Given the description of an element on the screen output the (x, y) to click on. 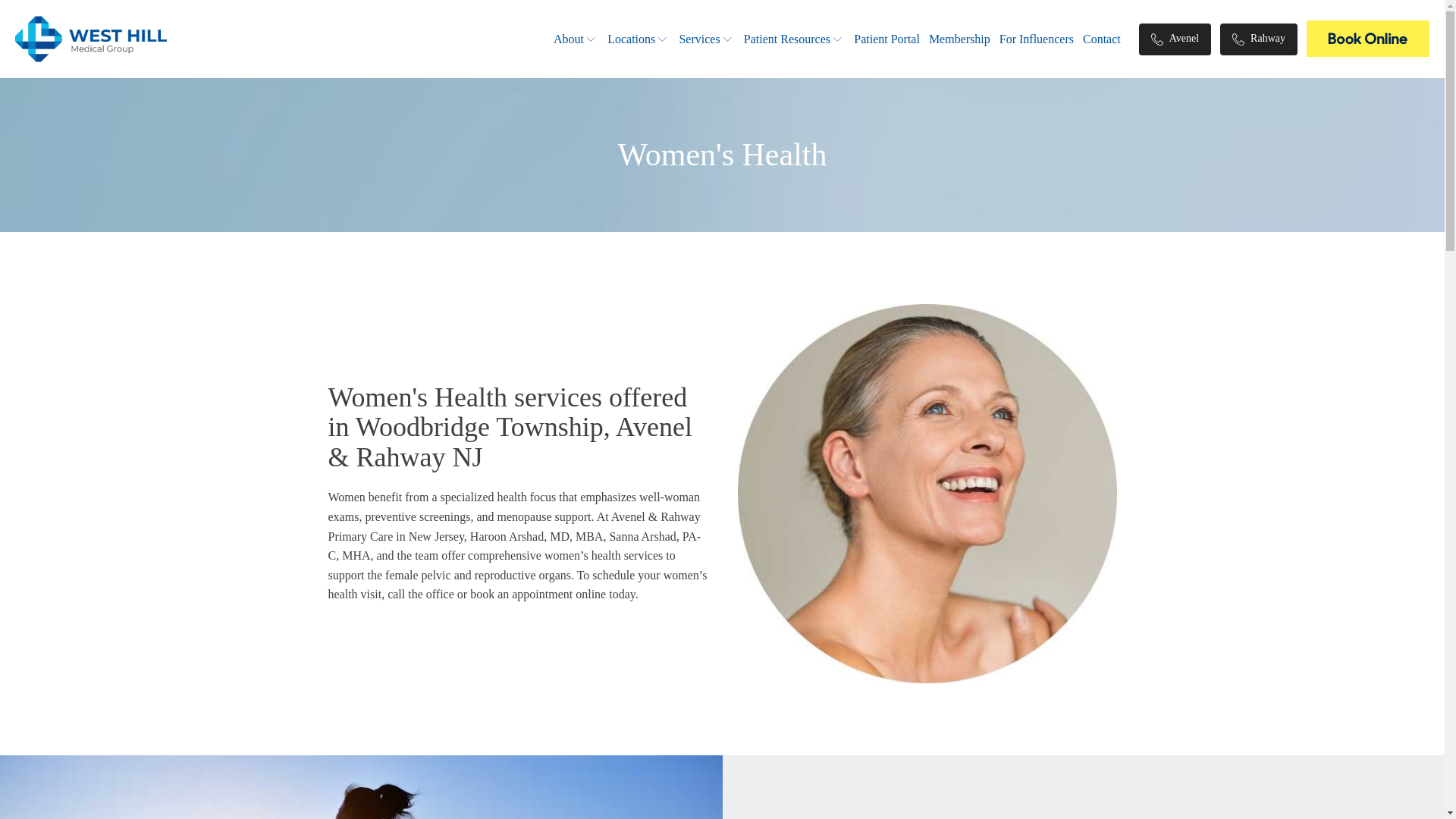
Patient Portal (886, 39)
Membership (959, 39)
Avenel Primary Care (1367, 41)
Services (705, 39)
About (575, 39)
Patient Resources (794, 39)
Contact (1102, 39)
Avenel (1174, 39)
Rahway (1258, 39)
Locations (638, 39)
For Influencers (1036, 39)
Avenel Primary Care (1367, 38)
